Given the description of an element on the screen output the (x, y) to click on. 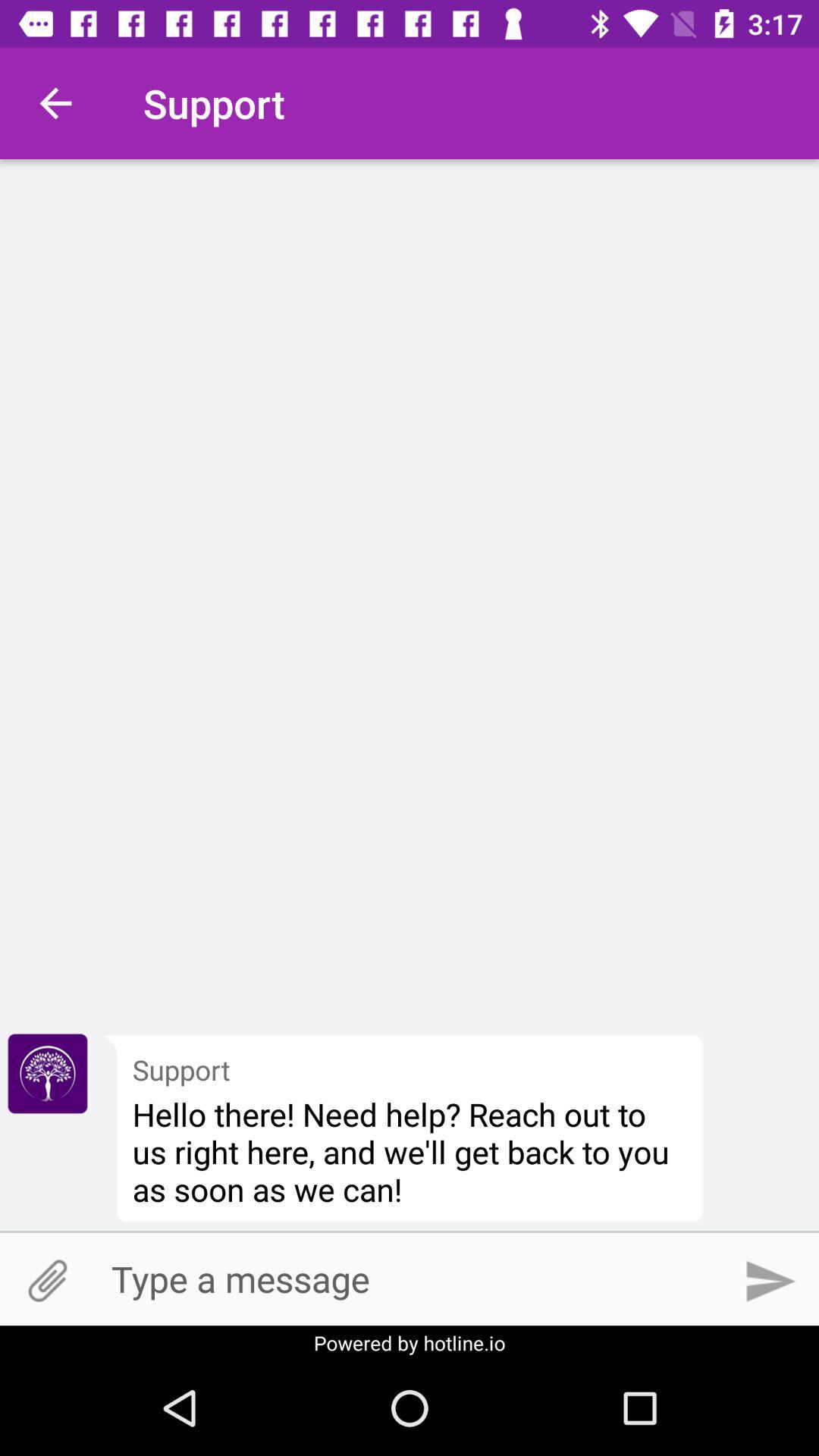
launch icon to the left of the support item (47, 1073)
